Given the description of an element on the screen output the (x, y) to click on. 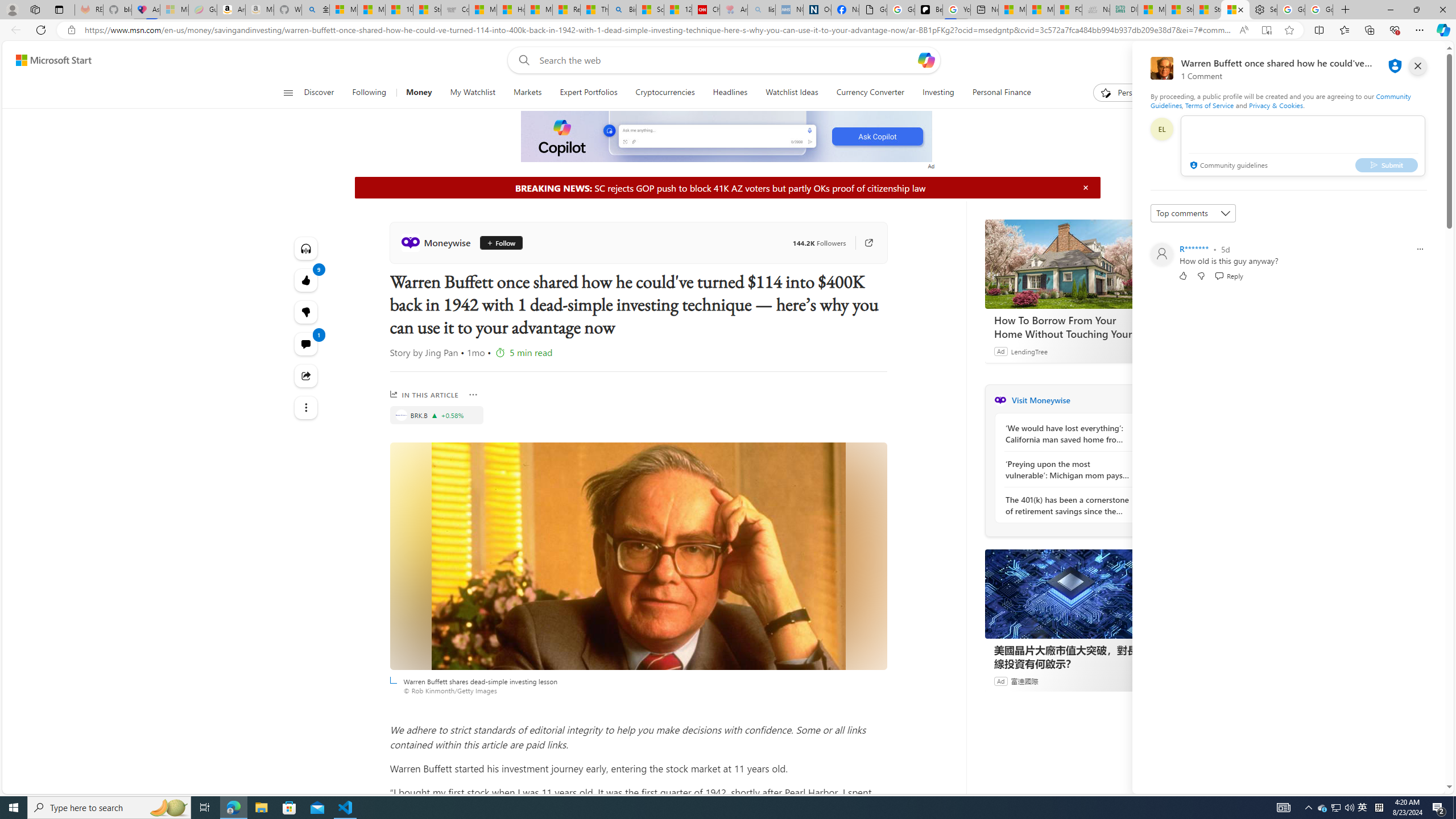
Open Copilot (925, 59)
Price increase (434, 414)
Recipes - MSN (566, 9)
Feedback (1402, 784)
Asthma Inhalers: Names and Types (145, 9)
Listen to this article (305, 248)
Cryptocurrencies (664, 92)
Investing (937, 92)
Stocks - MSN (1206, 9)
list of asthma inhalers uk - Search - Sleeping (761, 9)
Class: at-item (305, 407)
Microsoft rewards (1374, 60)
Community Guidelines (1280, 100)
